Given the description of an element on the screen output the (x, y) to click on. 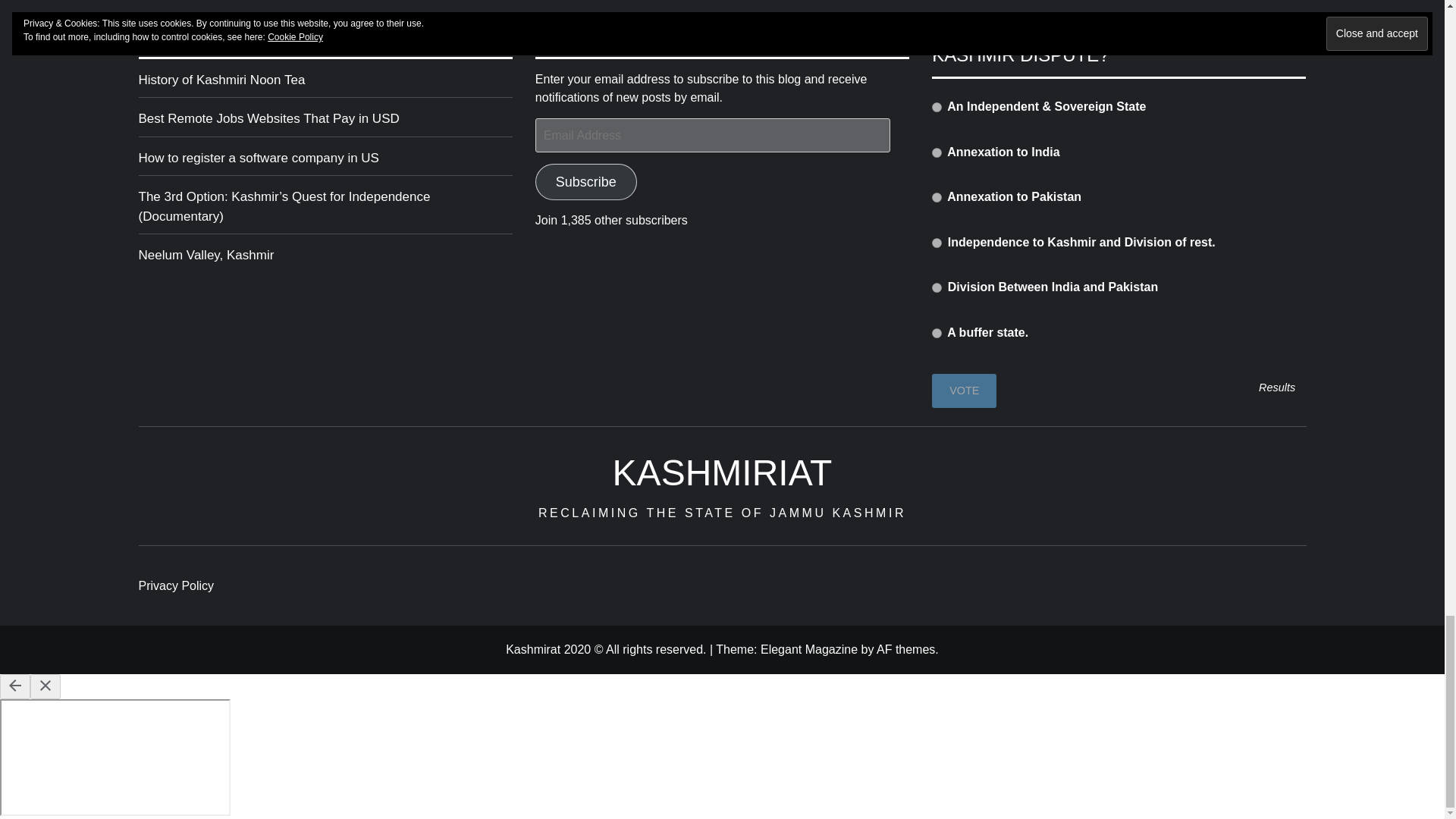
Vote (963, 390)
